Given the description of an element on the screen output the (x, y) to click on. 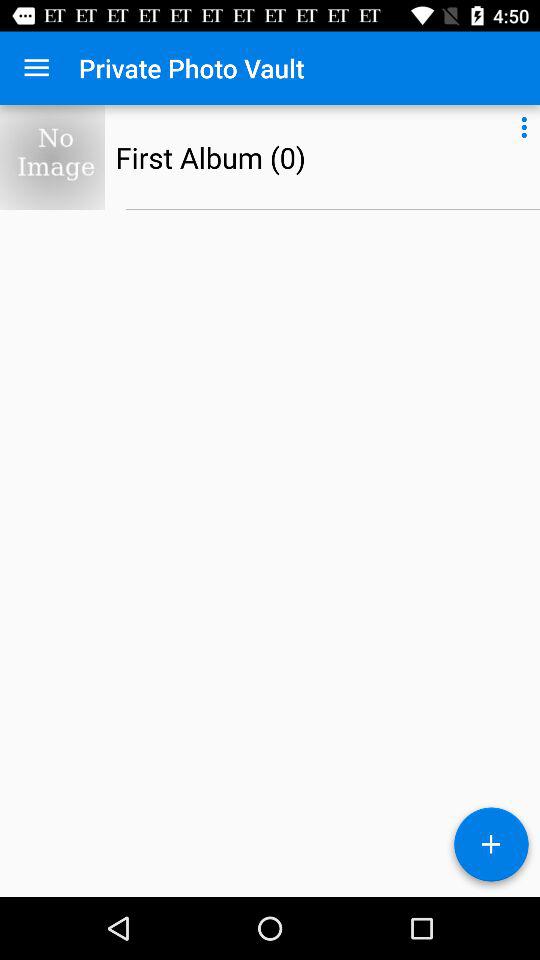
tap item to the left of the private photo vault (36, 68)
